Given the description of an element on the screen output the (x, y) to click on. 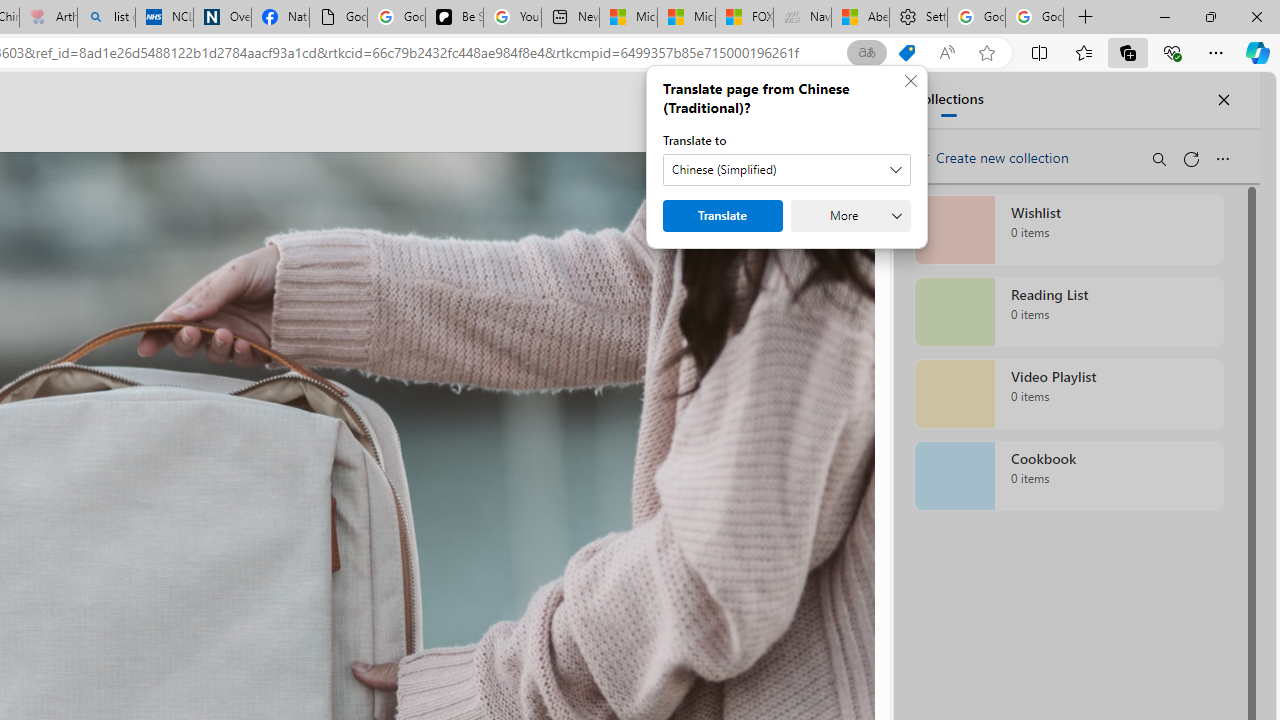
Translate to (787, 169)
Arthritis: Ask Health Professionals - Sleeping (48, 17)
More (851, 215)
